Given the description of an element on the screen output the (x, y) to click on. 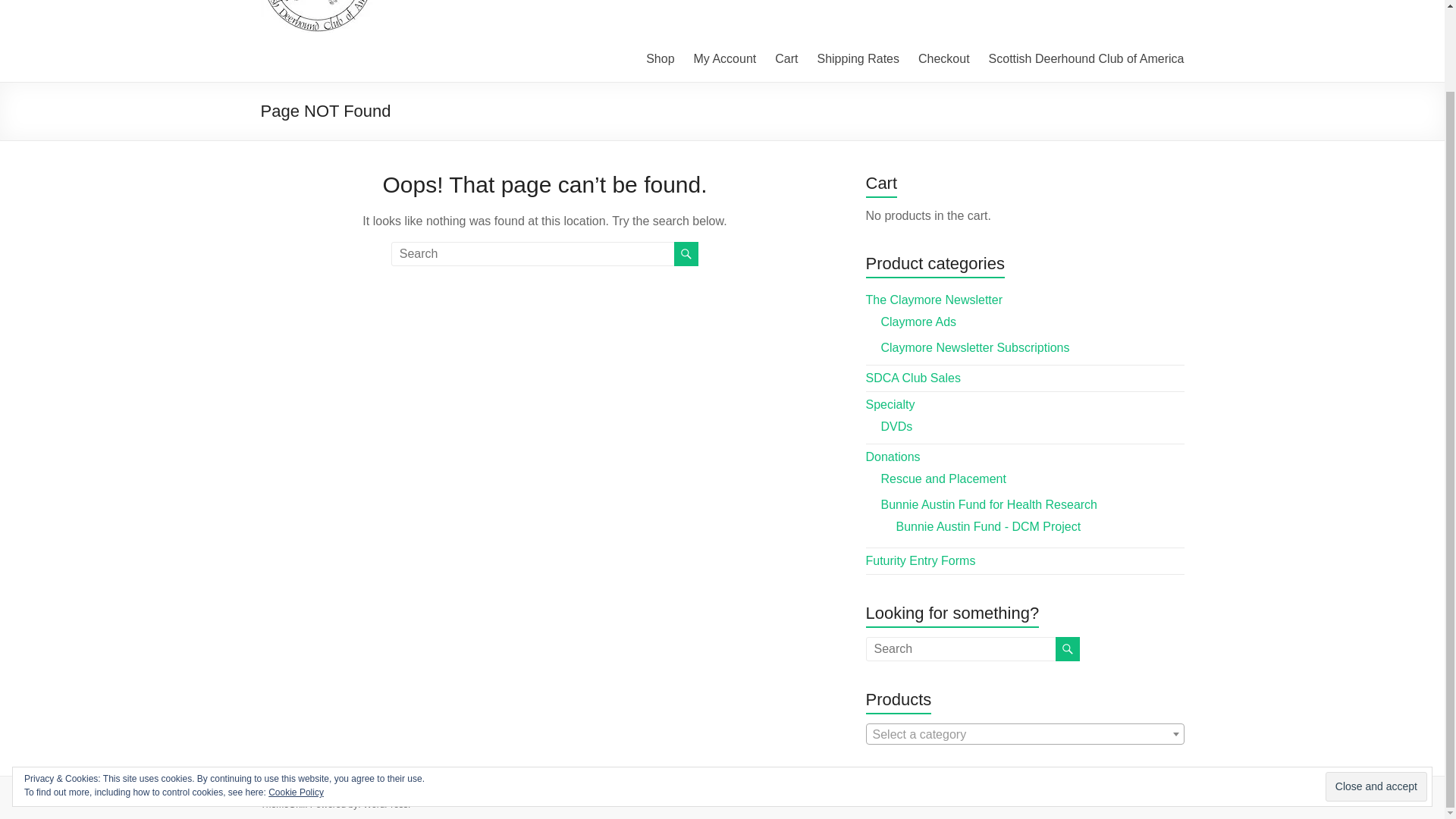
The Scottish Deerhound Club of America Store (427, 790)
The Scottish Deerhound Club of America Store (427, 790)
Claymore Newsletter Subscriptions (975, 347)
My Account (725, 58)
Spacious (654, 790)
Scottish Deerhound Club of America (1086, 58)
WordPress (384, 804)
Futurity Entry Forms (920, 560)
SDCA Club Sales (913, 377)
Bunnie Austin Fund for Health Research (988, 504)
Close and accept (1375, 695)
Questions? Comments? Contact US (1104, 791)
Specialty (890, 404)
Shop (660, 58)
The Claymore Newsletter (934, 299)
